Given the description of an element on the screen output the (x, y) to click on. 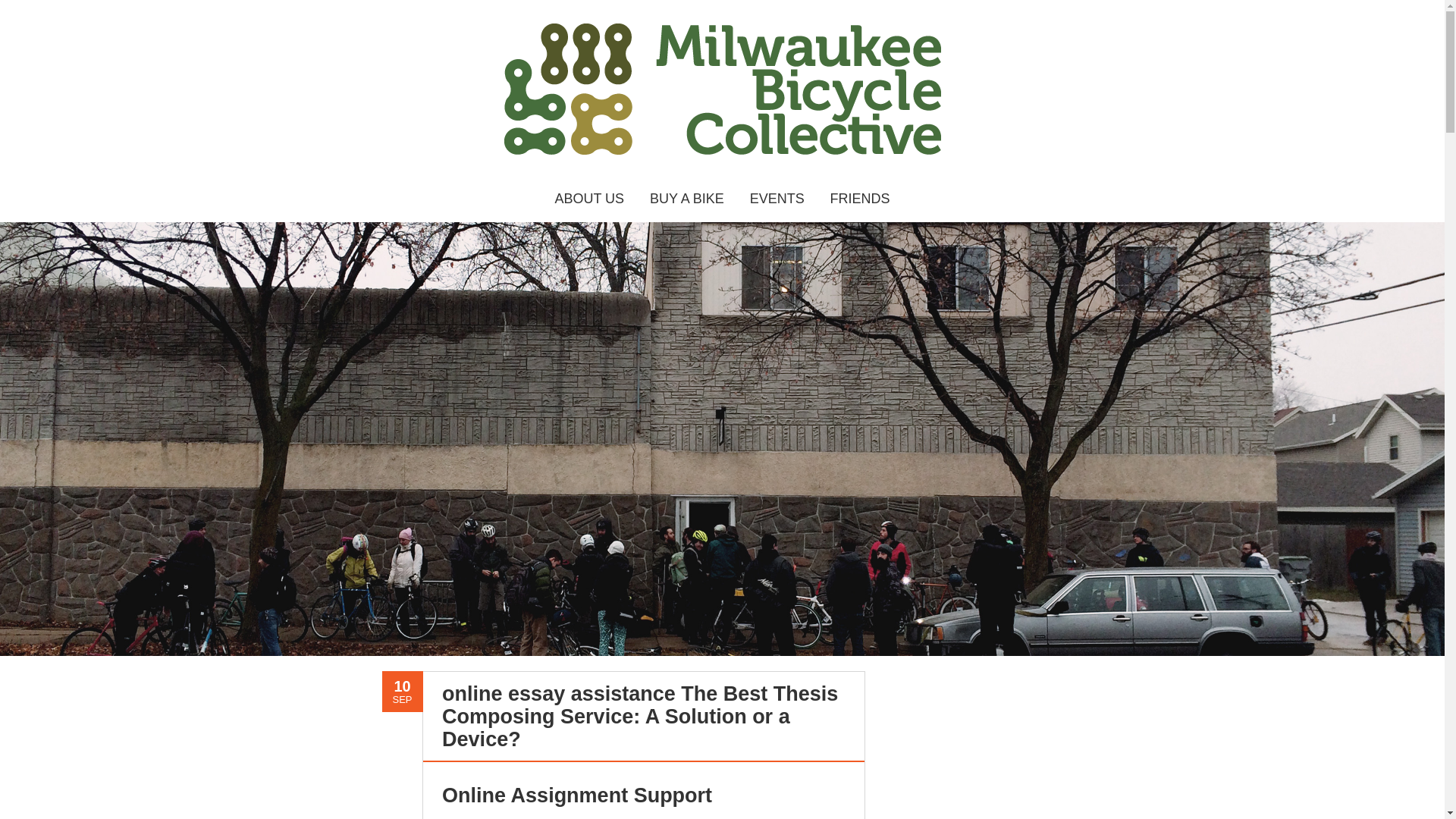
About Us (589, 198)
ABOUT US (589, 198)
EVENTS (777, 198)
FRIENDS (860, 198)
BUY A BIKE (687, 198)
Friends of the Milwaukee Bicycle Collective (860, 198)
Events with the Milwaukee Bicycle Collective (777, 198)
